Given the description of an element on the screen output the (x, y) to click on. 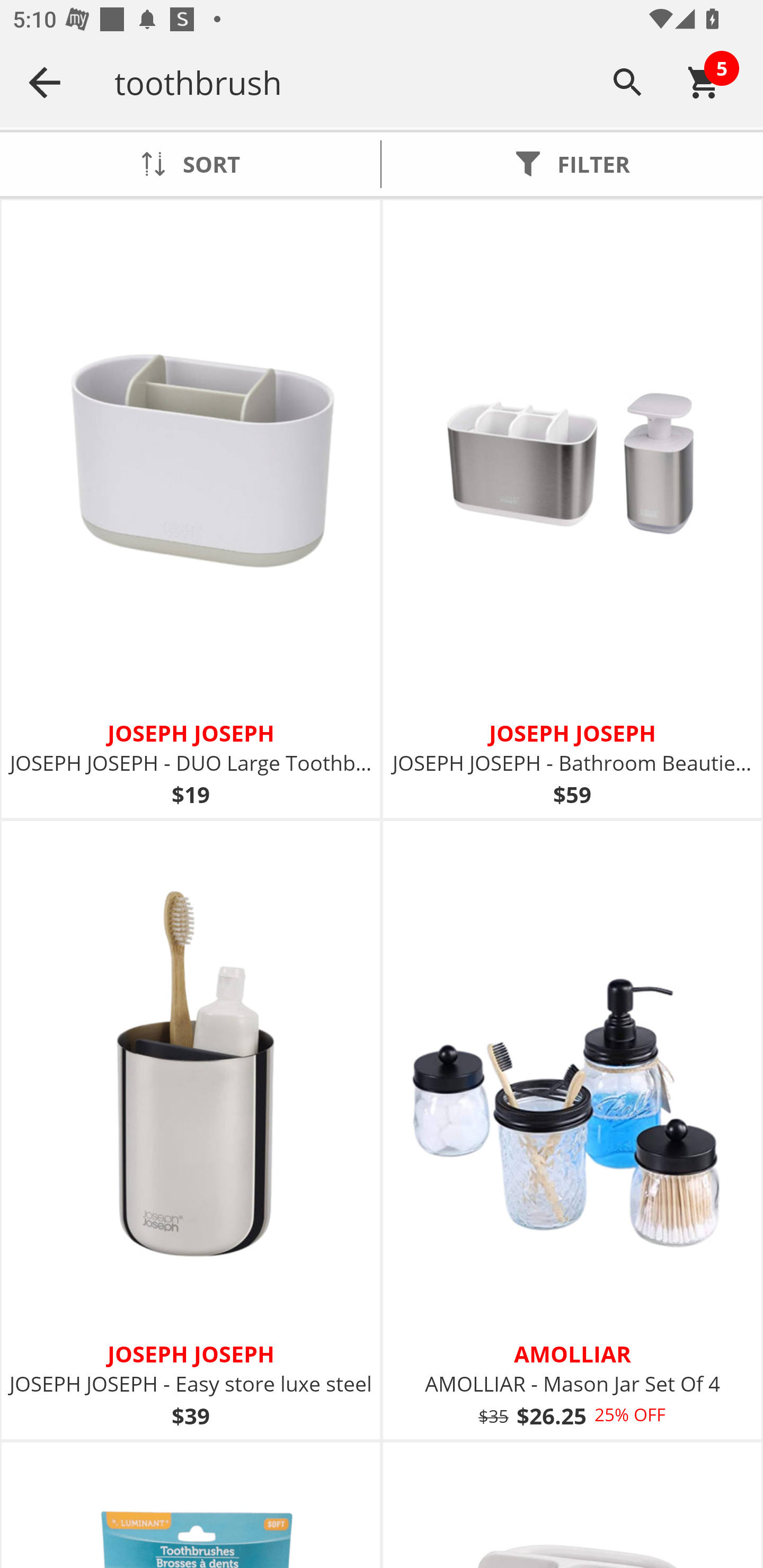
Navigate up (44, 82)
SORT (190, 163)
FILTER (572, 163)
